Given the description of an element on the screen output the (x, y) to click on. 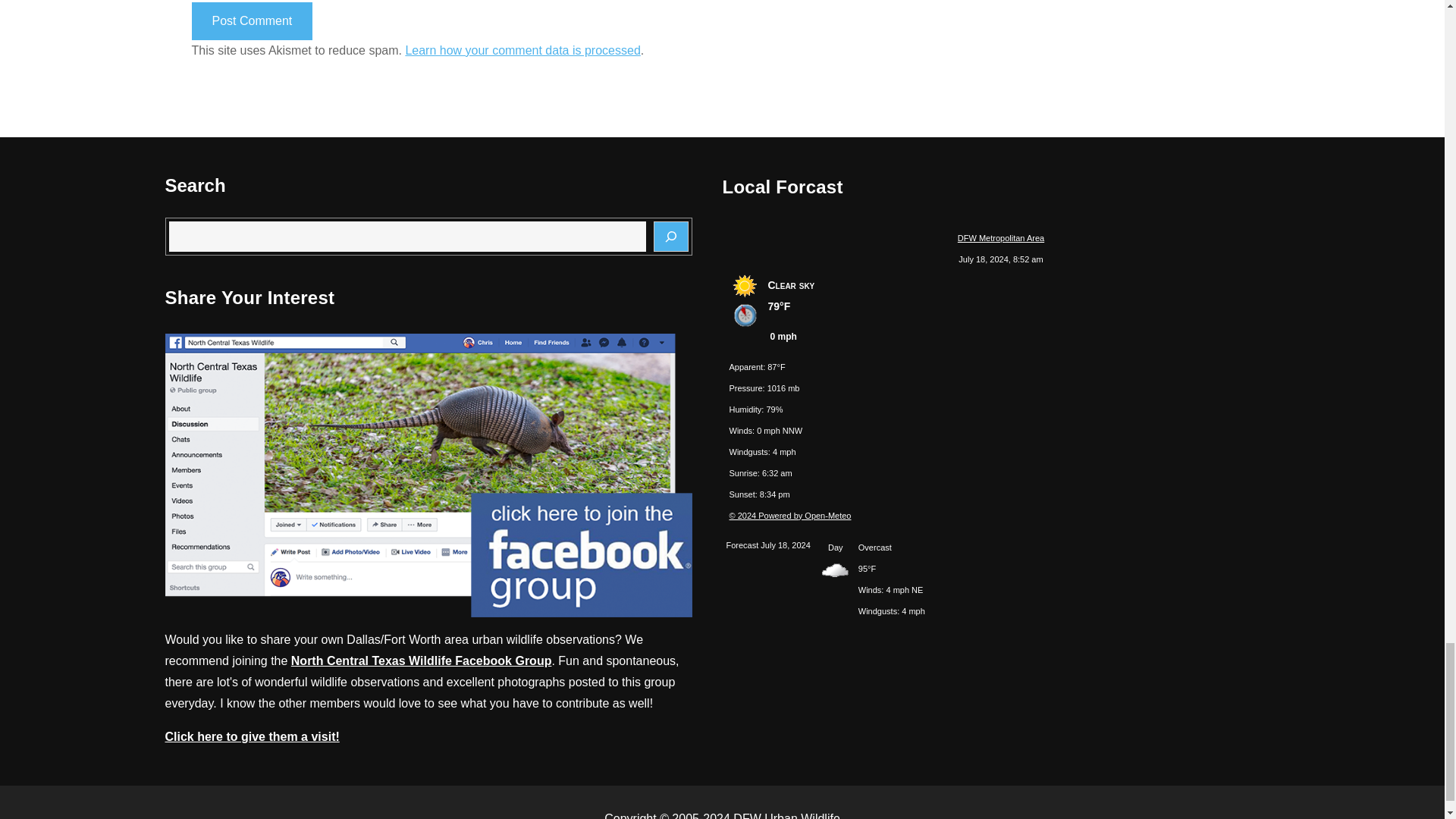
Post Comment (251, 21)
Post Comment (251, 21)
Learn how your comment data is processed (522, 50)
